Given the description of an element on the screen output the (x, y) to click on. 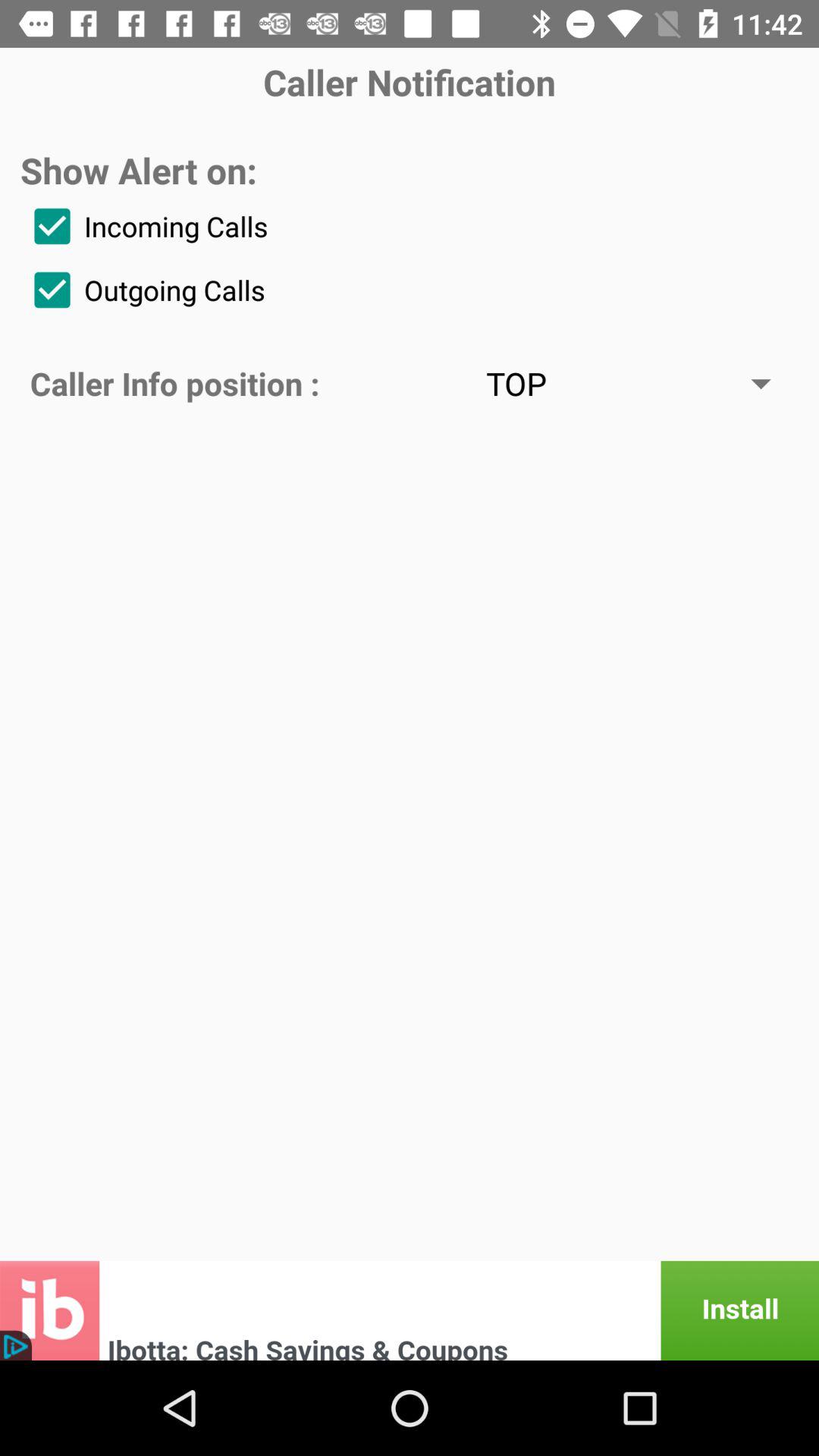
install option (409, 1310)
